Given the description of an element on the screen output the (x, y) to click on. 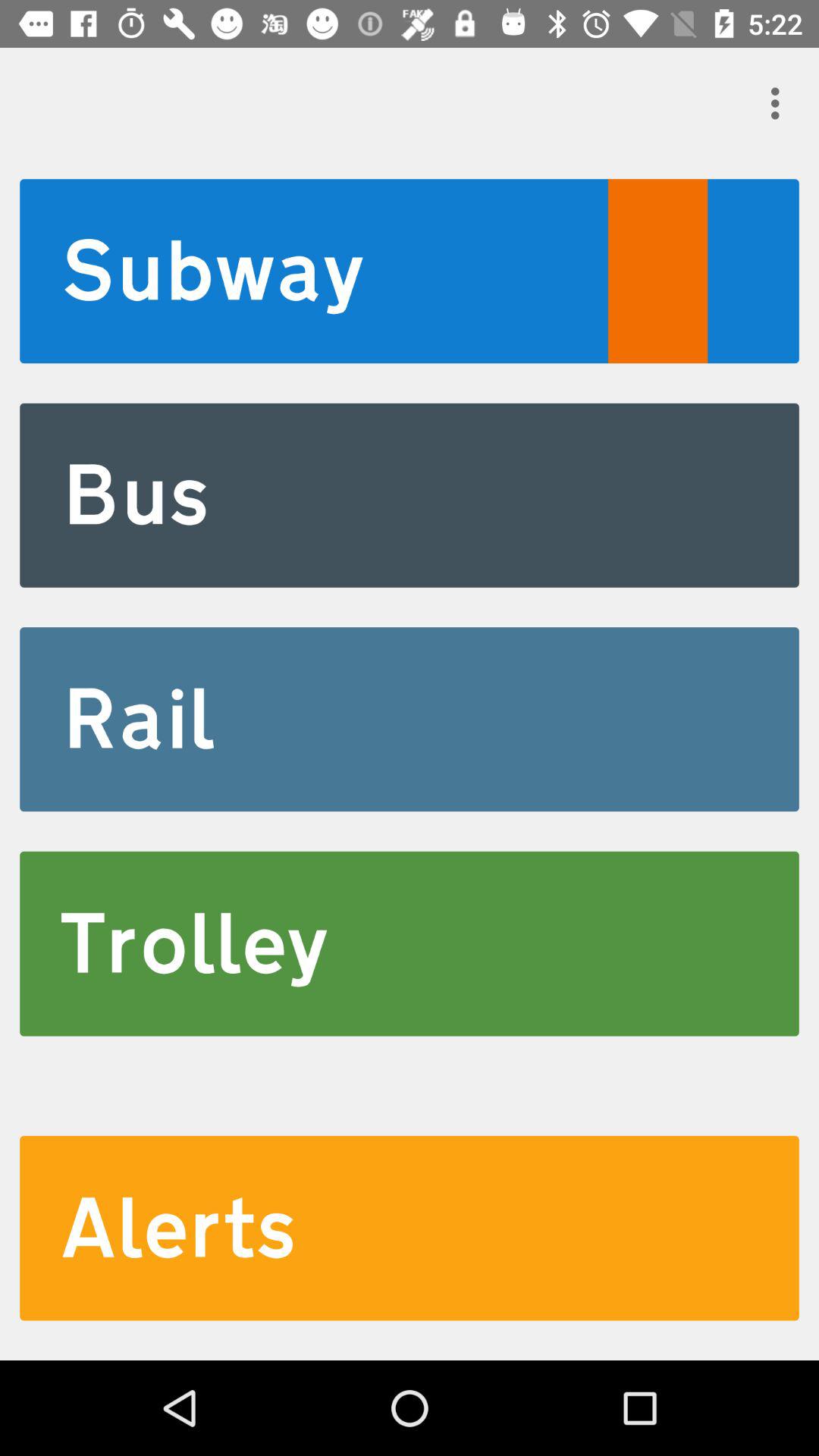
select the icon above trolley item (409, 719)
